Given the description of an element on the screen output the (x, y) to click on. 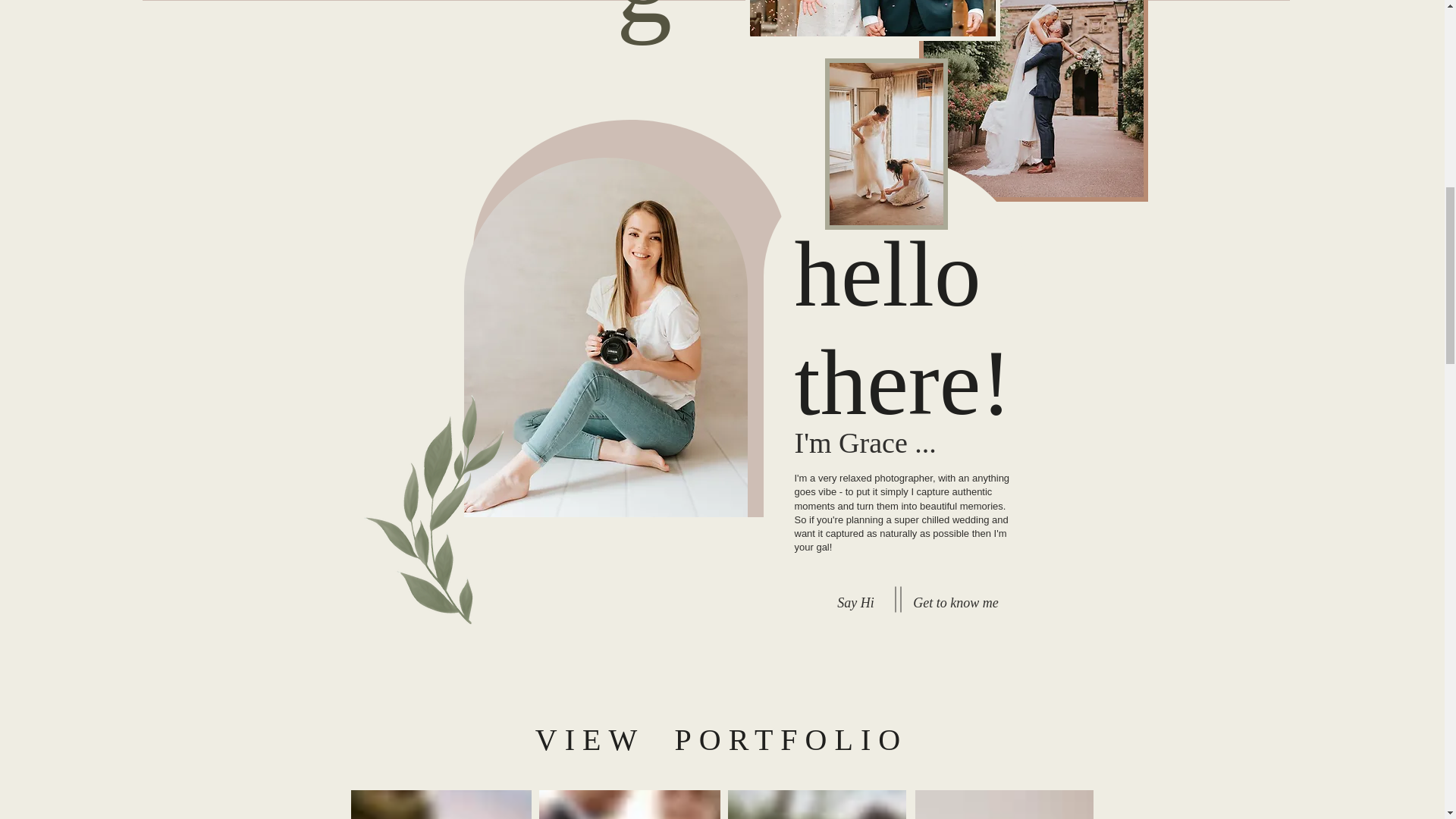
amazing (644, 22)
Say Hi (856, 603)
Weddings (944, 802)
Get to know me (956, 603)
